Given the description of an element on the screen output the (x, y) to click on. 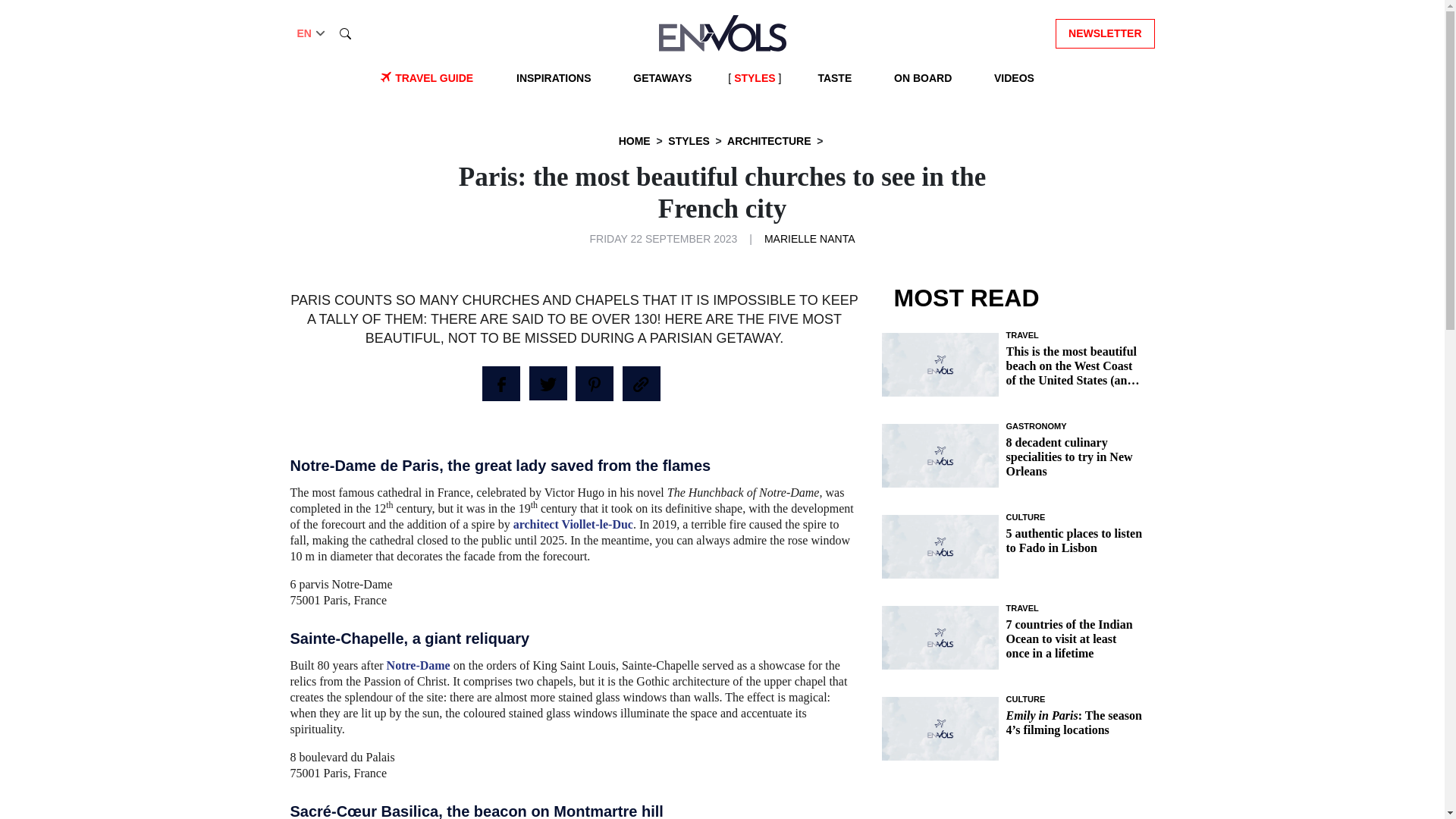
ON BOARD (923, 78)
NEWSLETTER (1104, 32)
VIDEOS (1014, 78)
TASTE (833, 78)
GETAWAYS (662, 78)
EN (311, 33)
INSPIRATIONS (553, 78)
STYLES (754, 78)
TRAVEL GUIDE (433, 78)
